Given the description of an element on the screen output the (x, y) to click on. 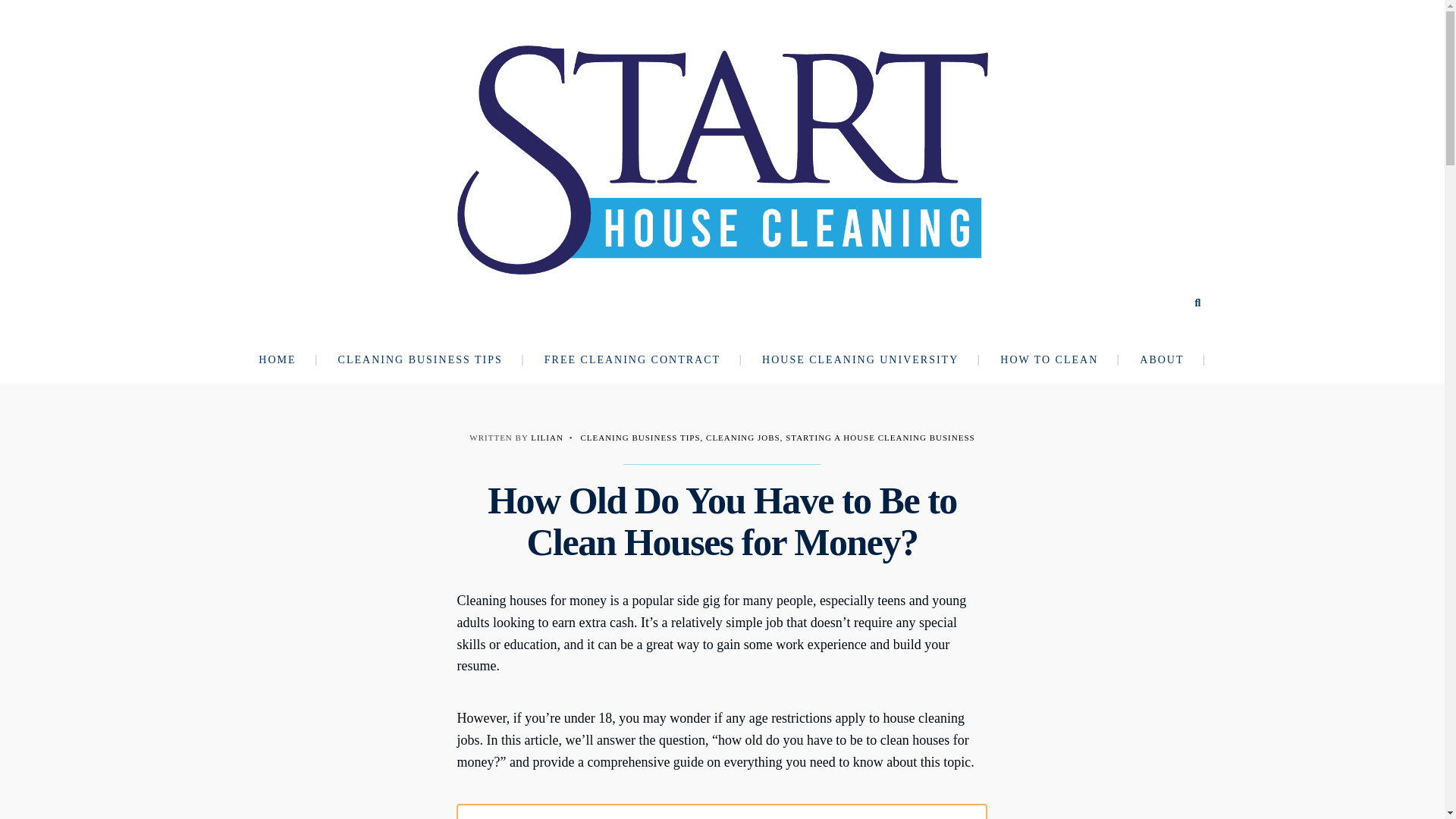
FREE CLEANING CONTRACT (641, 359)
HOME (286, 359)
CLEANING BUSINESS TIPS (429, 359)
HOW TO CLEAN (1058, 359)
Posts by Lilian (547, 437)
CLEANING BUSINESS TIPS (639, 437)
STARTING A HOUSE CLEANING BUSINESS (880, 437)
LILIAN (547, 437)
CLEANING JOBS (743, 437)
ABOUT (1171, 359)
